Given the description of an element on the screen output the (x, y) to click on. 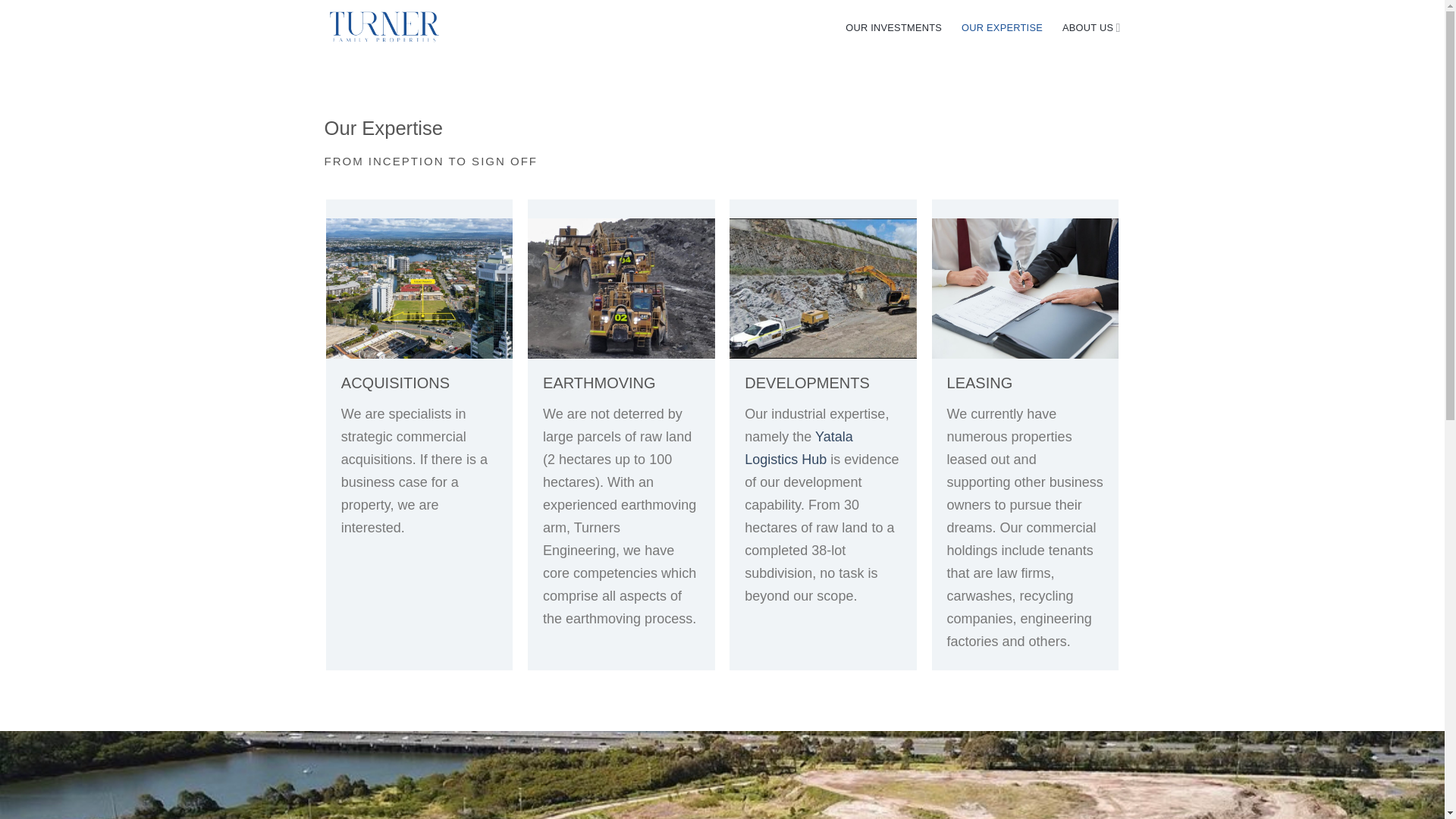
Yatala Logistics Hub (797, 447)
OUR INVESTMENTS (893, 26)
ABOUT US (1091, 27)
OUR EXPERTISE (1001, 26)
Turner Family Properties (384, 27)
